Given the description of an element on the screen output the (x, y) to click on. 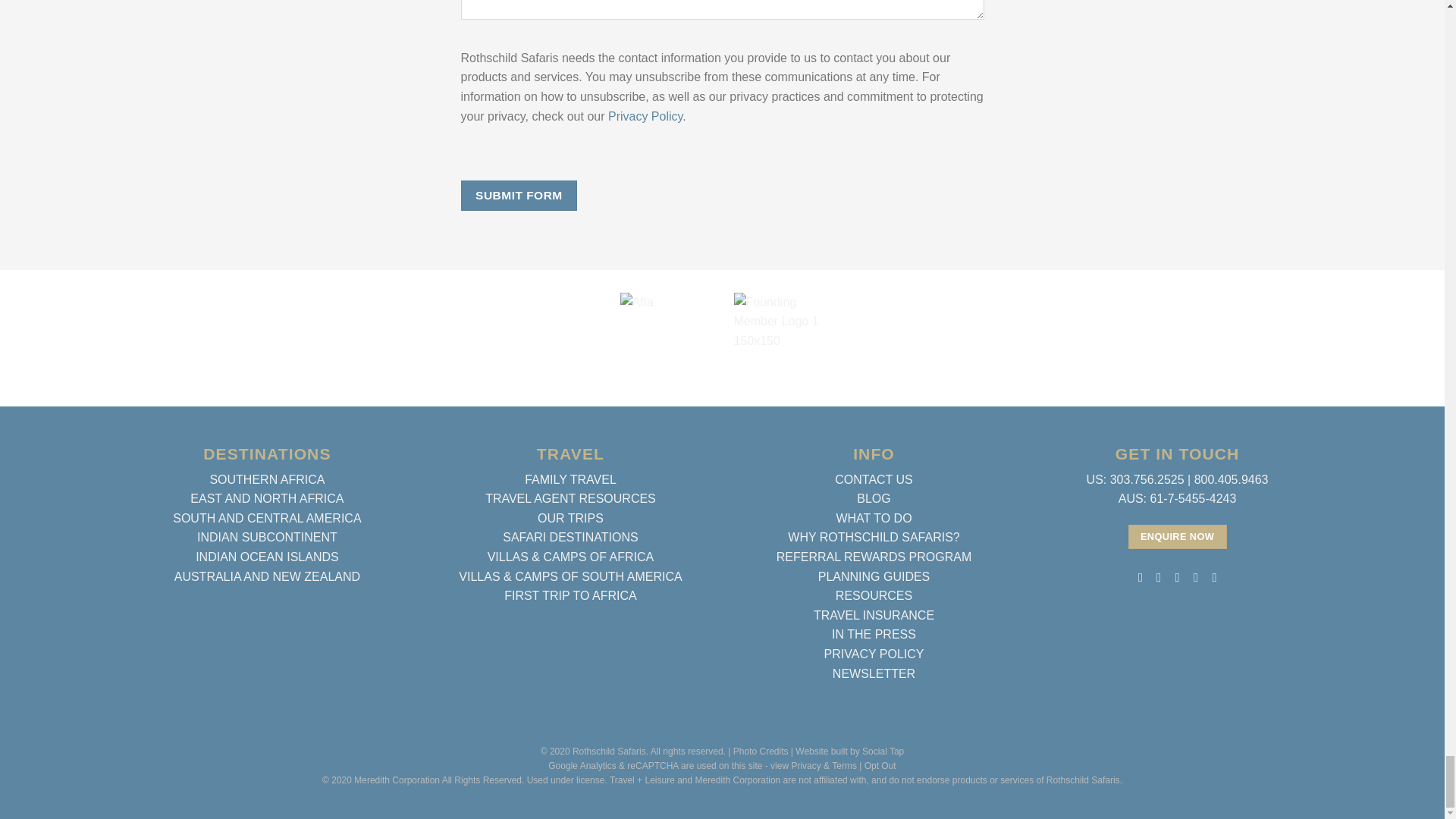
Submit Form (519, 194)
Follow on YouTube (1214, 576)
Follow on Twitter (1176, 576)
Follow on Facebook (1139, 576)
Follow on Instagram (1158, 576)
Follow on LinkedIn (1195, 576)
